Given the description of an element on the screen output the (x, y) to click on. 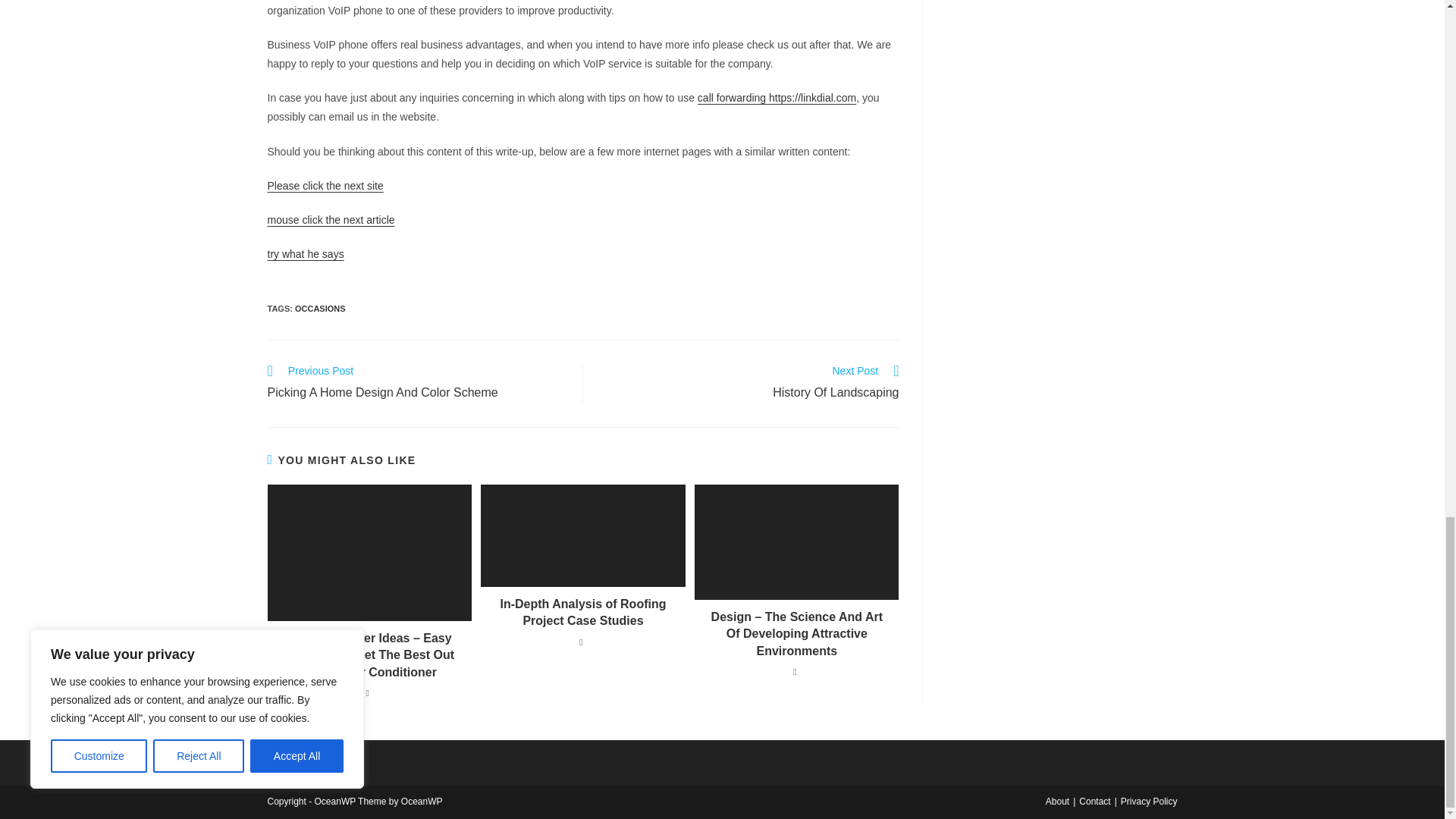
try what he says (304, 254)
mouse click the next article (330, 219)
OCCASIONS (320, 307)
Please click the next site (748, 383)
